Given the description of an element on the screen output the (x, y) to click on. 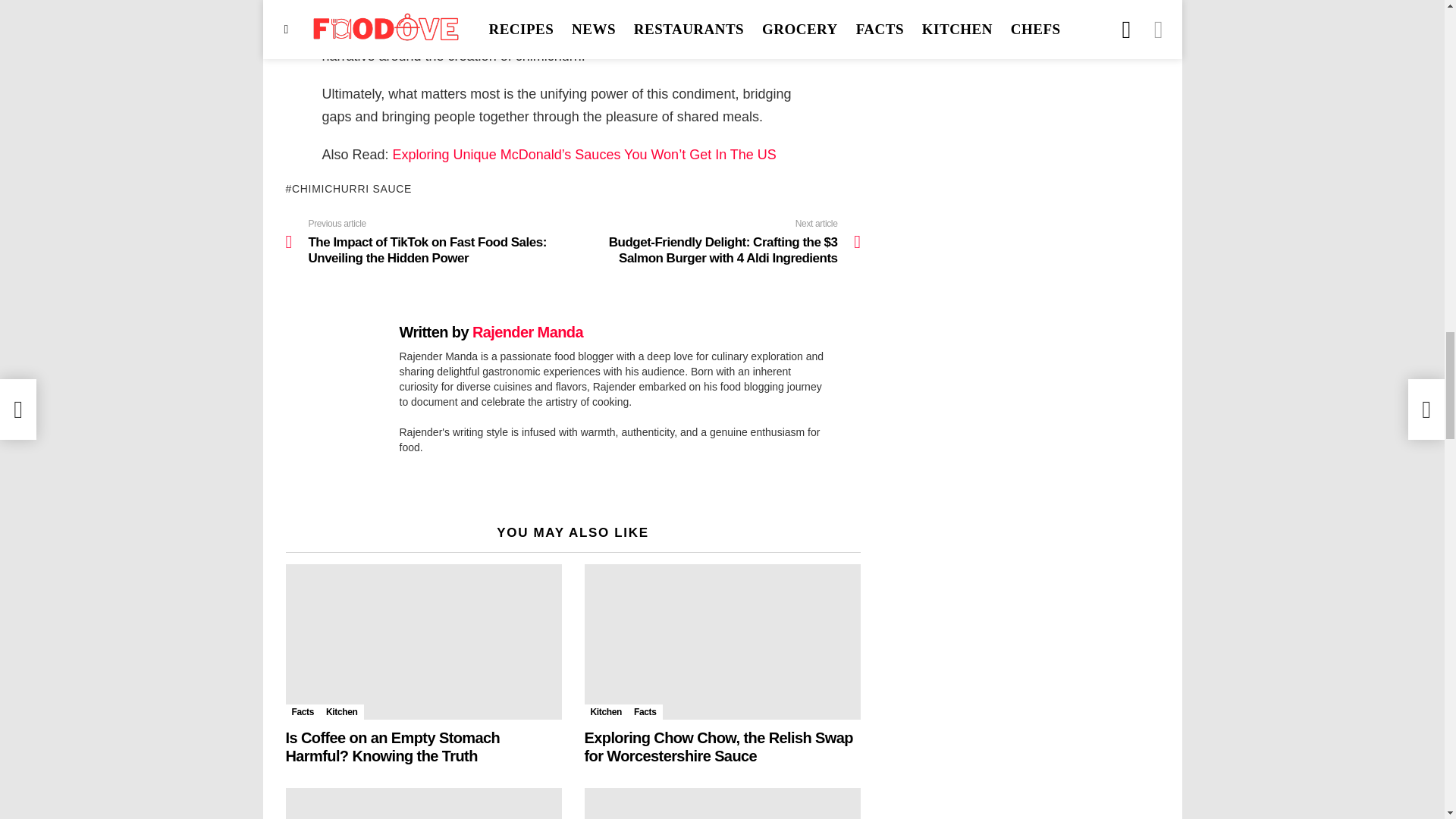
CHIMICHURRI SAUCE (348, 188)
Rajender Manda (527, 331)
Is Coffee on an Empty Stomach Harmful? Knowing the Truth (392, 746)
Facts (644, 711)
Kitchen (605, 711)
Facts (302, 711)
Is Coffee on an Empty Stomach Harmful? Knowing the Truth (422, 641)
Kitchen (341, 711)
